Given the description of an element on the screen output the (x, y) to click on. 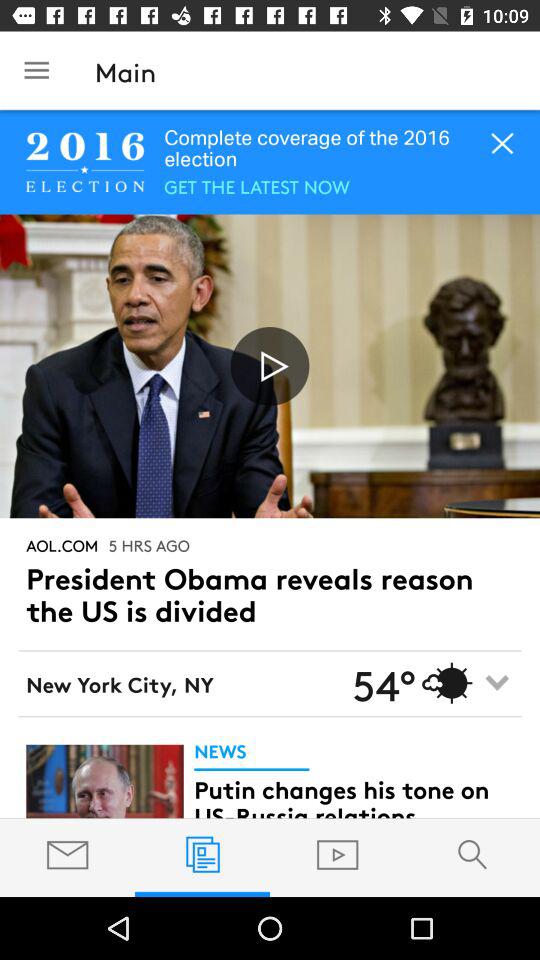
show the article (104, 781)
